Given the description of an element on the screen output the (x, y) to click on. 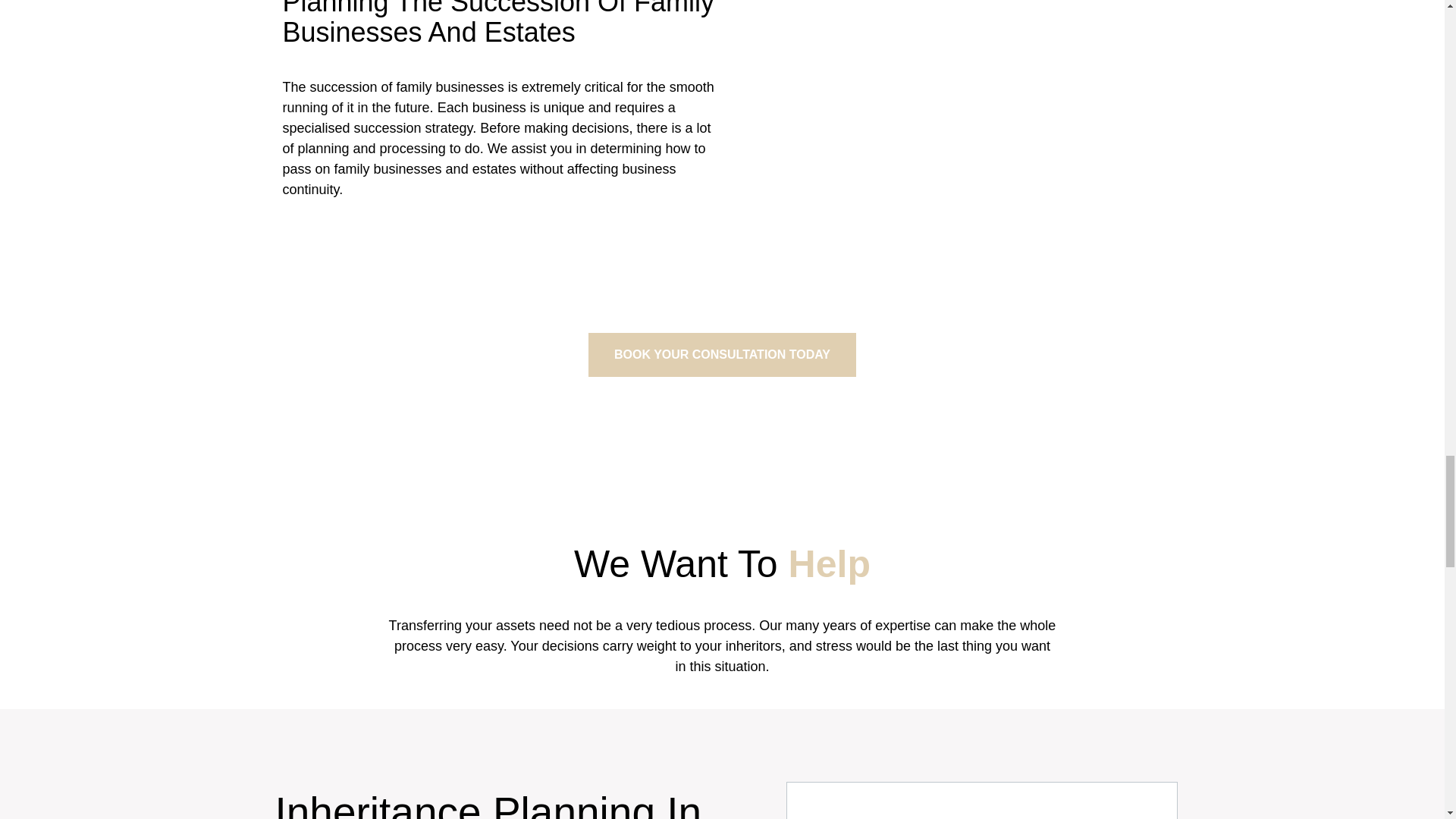
BOOK YOUR CONSULTATION TODAY (722, 354)
